Given the description of an element on the screen output the (x, y) to click on. 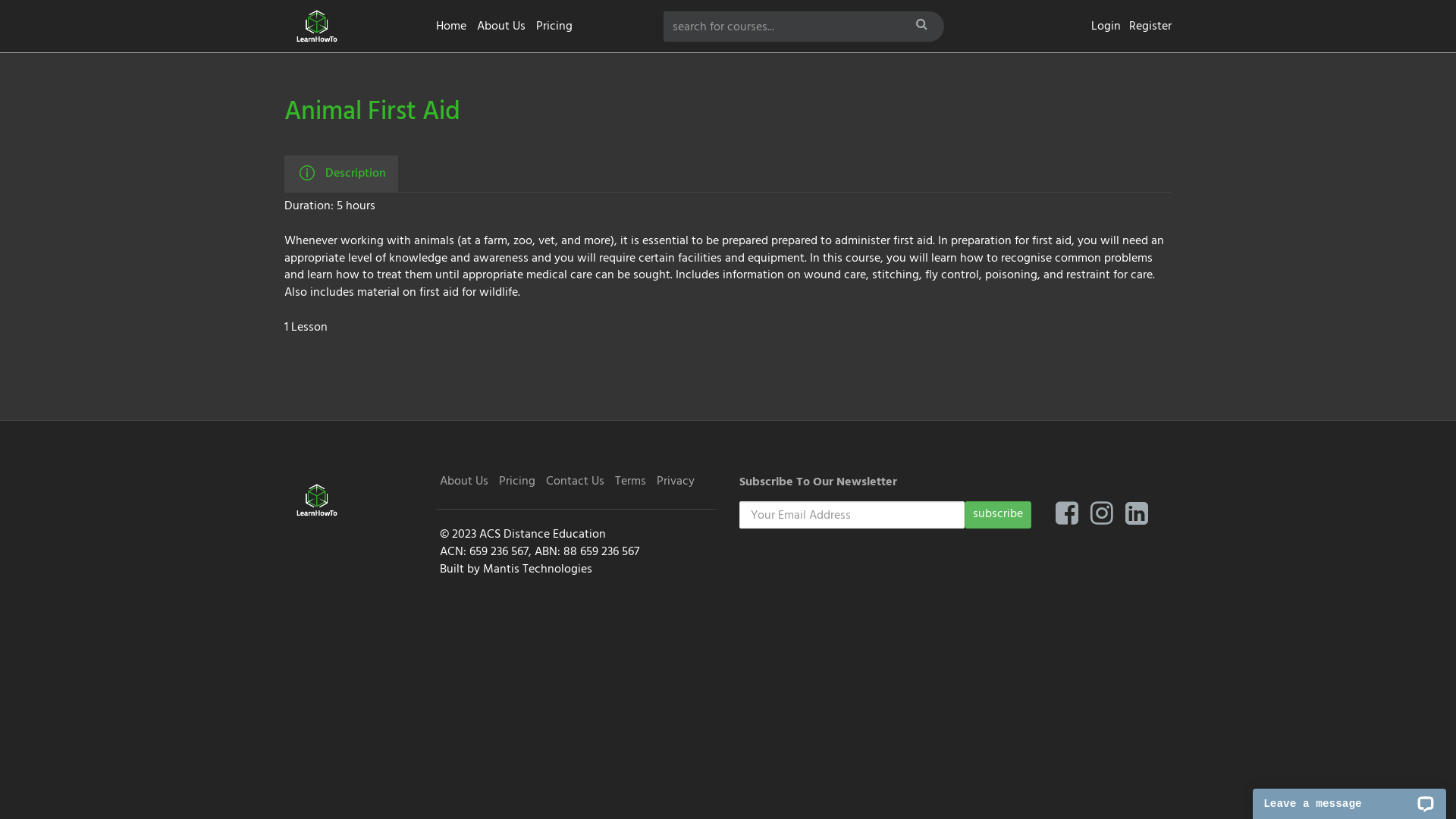
Built by Mantis Technologies Element type: text (515, 569)
About Us Element type: text (463, 481)
Privacy Element type: text (675, 481)
Register Element type: text (1150, 26)
Pricing Element type: text (516, 481)
subscribe Element type: text (997, 514)
Description Element type: text (341, 173)
Terms Element type: text (630, 481)
Contact Us Element type: text (575, 481)
Login Element type: text (1105, 26)
Home Element type: text (451, 26)
About Us Element type: text (500, 26)
Pricing Element type: text (554, 26)
